Given the description of an element on the screen output the (x, y) to click on. 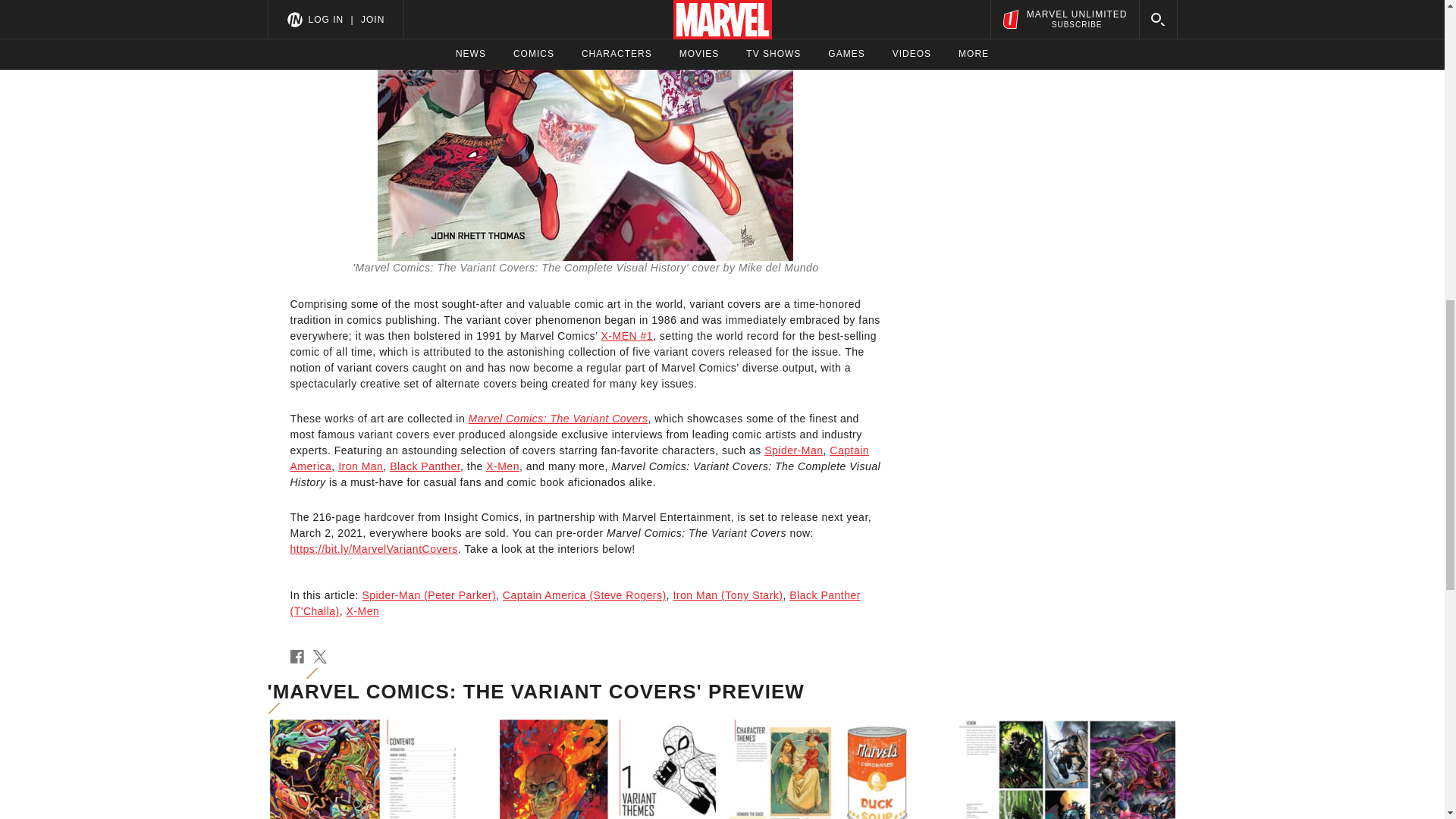
Captain America (579, 458)
Marvel Comics: The Variant Covers (557, 418)
X-Men (502, 466)
Iron Man (359, 466)
Black Panther (425, 466)
Spider-Man (793, 450)
